Given the description of an element on the screen output the (x, y) to click on. 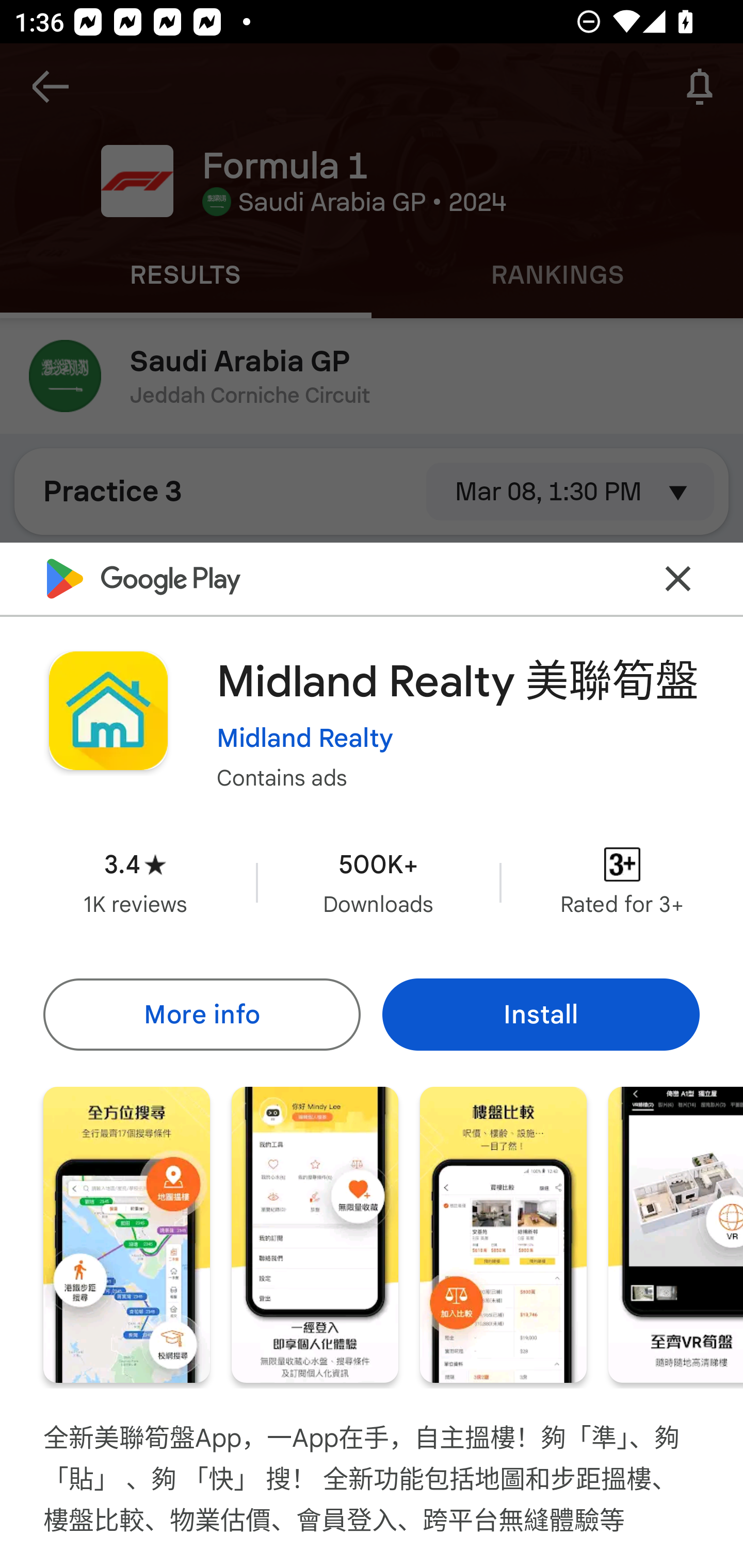
Close (677, 578)
Image of app or game icon for Midland Realty 美聯筍盤 (108, 711)
Midland Realty (304, 737)
More info (201, 1014)
Install (540, 1014)
Screenshot "1" of "7" (126, 1234)
Screenshot "2" of "7" (314, 1234)
Screenshot "3" of "7" (502, 1234)
Screenshot "4" of "7" (675, 1234)
